Given the description of an element on the screen output the (x, y) to click on. 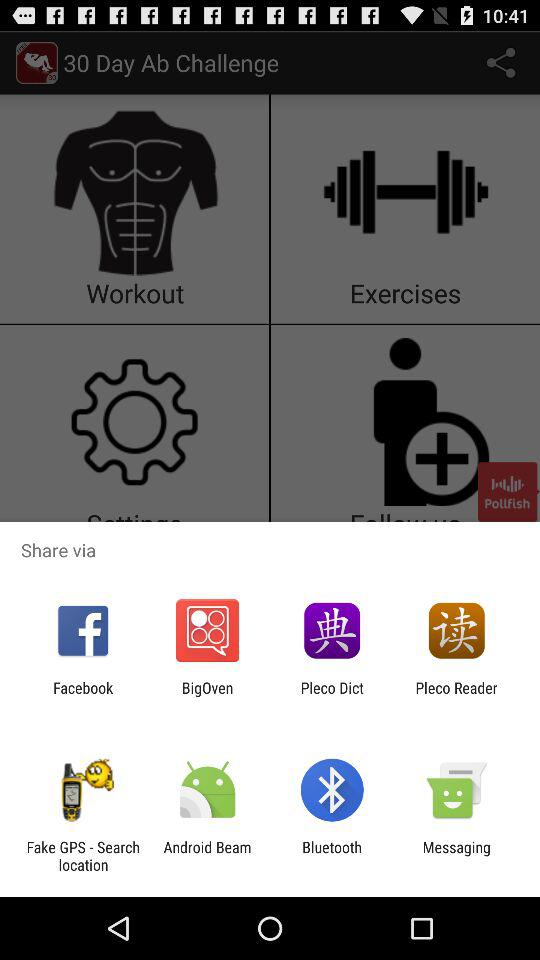
flip to the messaging item (456, 856)
